Given the description of an element on the screen output the (x, y) to click on. 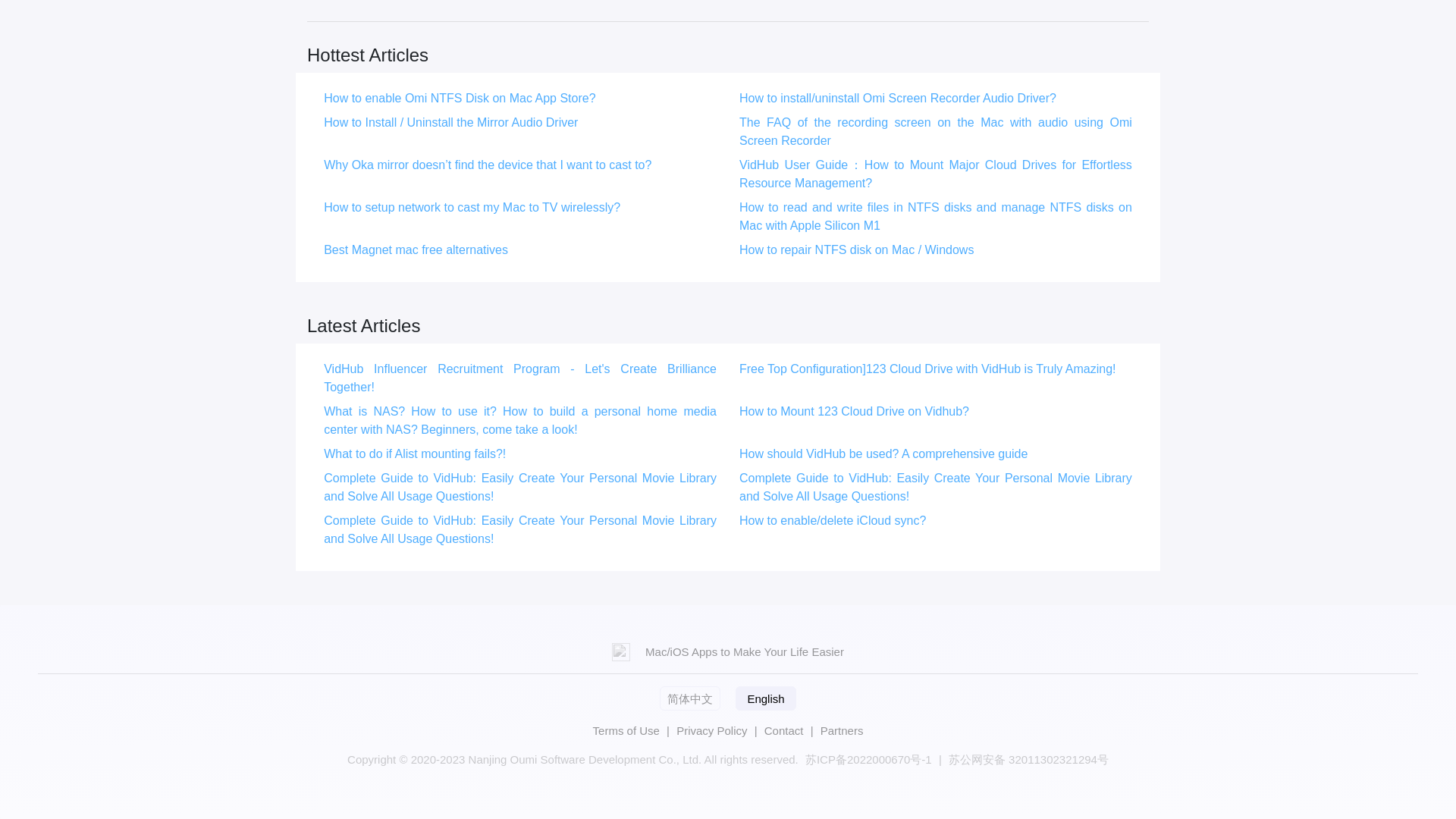
How to enable Omi NTFS Disk on Mac App Store? (459, 97)
